Given the description of an element on the screen output the (x, y) to click on. 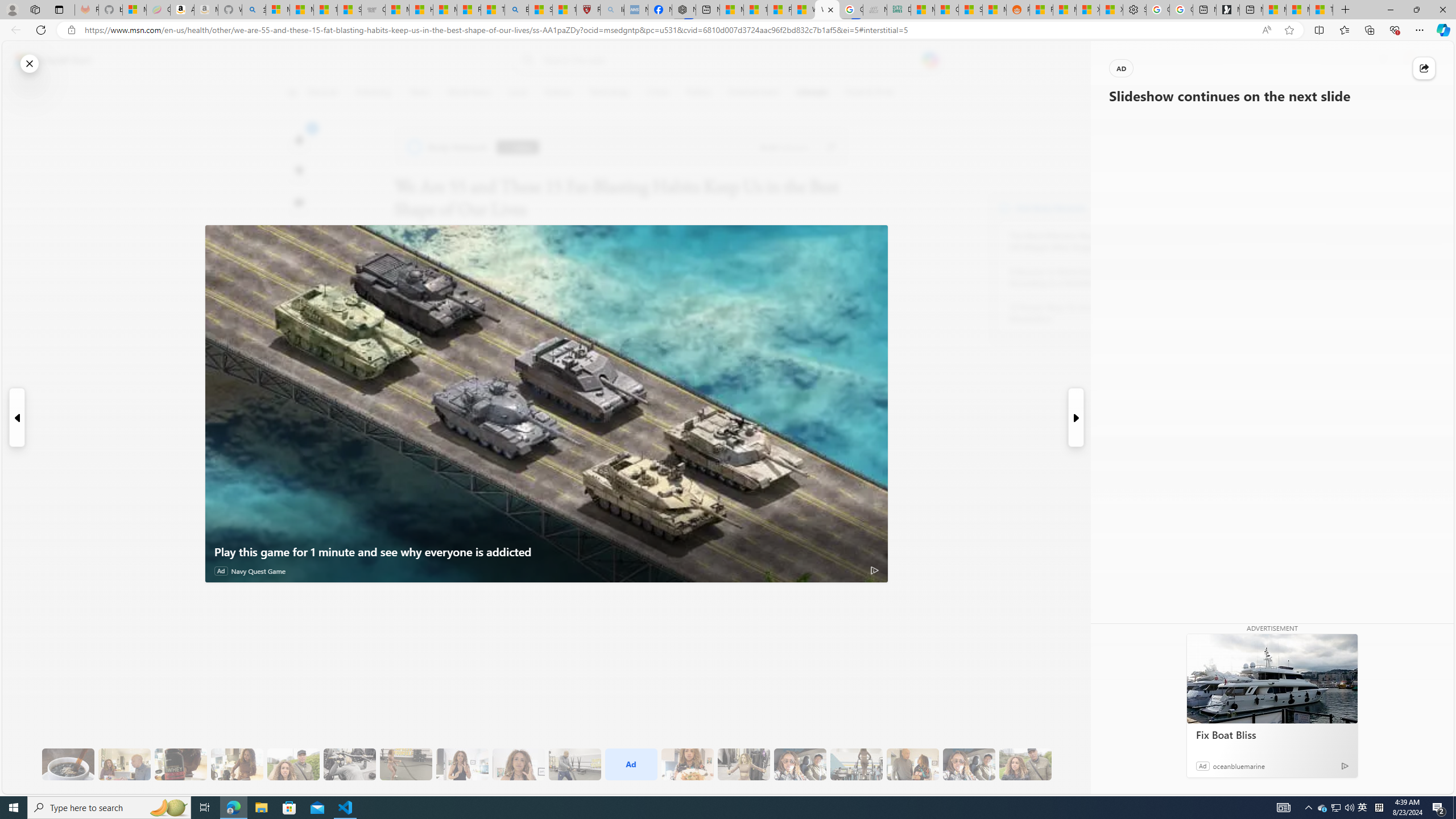
Play this game for 1 minute and see why everyone is addicted (546, 403)
6 Since Eating More Protein Her Training Has Improved (180, 764)
6 Like (299, 138)
Fitness - MSN (779, 9)
8 Be Mindful of Coffee (68, 764)
8 They Walk to the Gym (293, 764)
Go to publisher's site (830, 146)
